Given the description of an element on the screen output the (x, y) to click on. 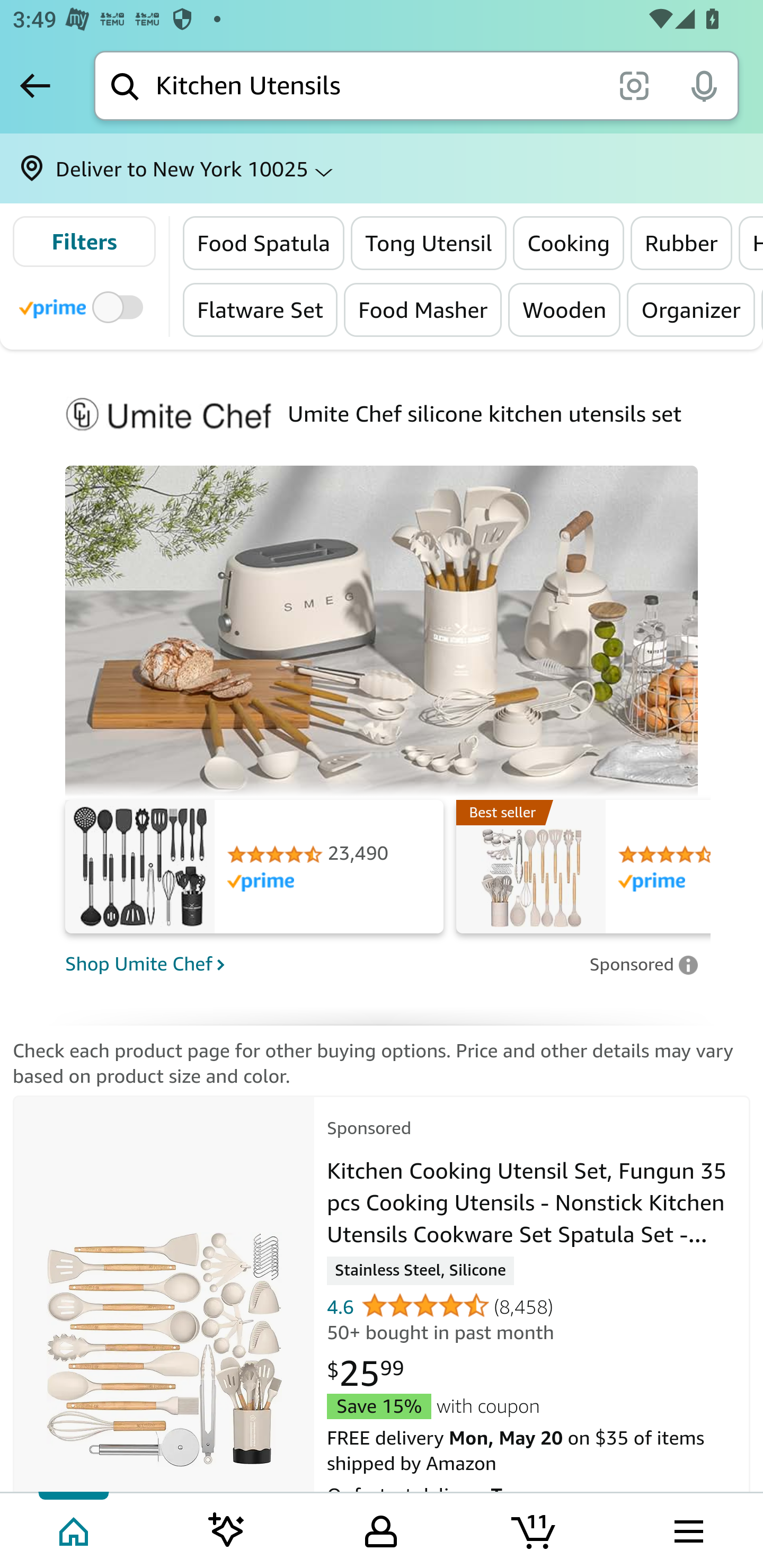
Back (35, 85)
scan it (633, 85)
Deliver to New York 10025 ⌵ (381, 168)
Filters (83, 241)
Food Spatula (263, 242)
Tong Utensil (428, 242)
Cooking (567, 242)
Rubber (680, 242)
Toggle to filter by Prime products Prime Eligible (83, 306)
Flatware Set (260, 309)
Food Masher (422, 309)
Wooden (564, 309)
Organizer (690, 309)
Shop Umite Chef Shop Umite  Chef  (321, 963)
Leave feedback on Sponsored ad (643, 964)
